Given the description of an element on the screen output the (x, y) to click on. 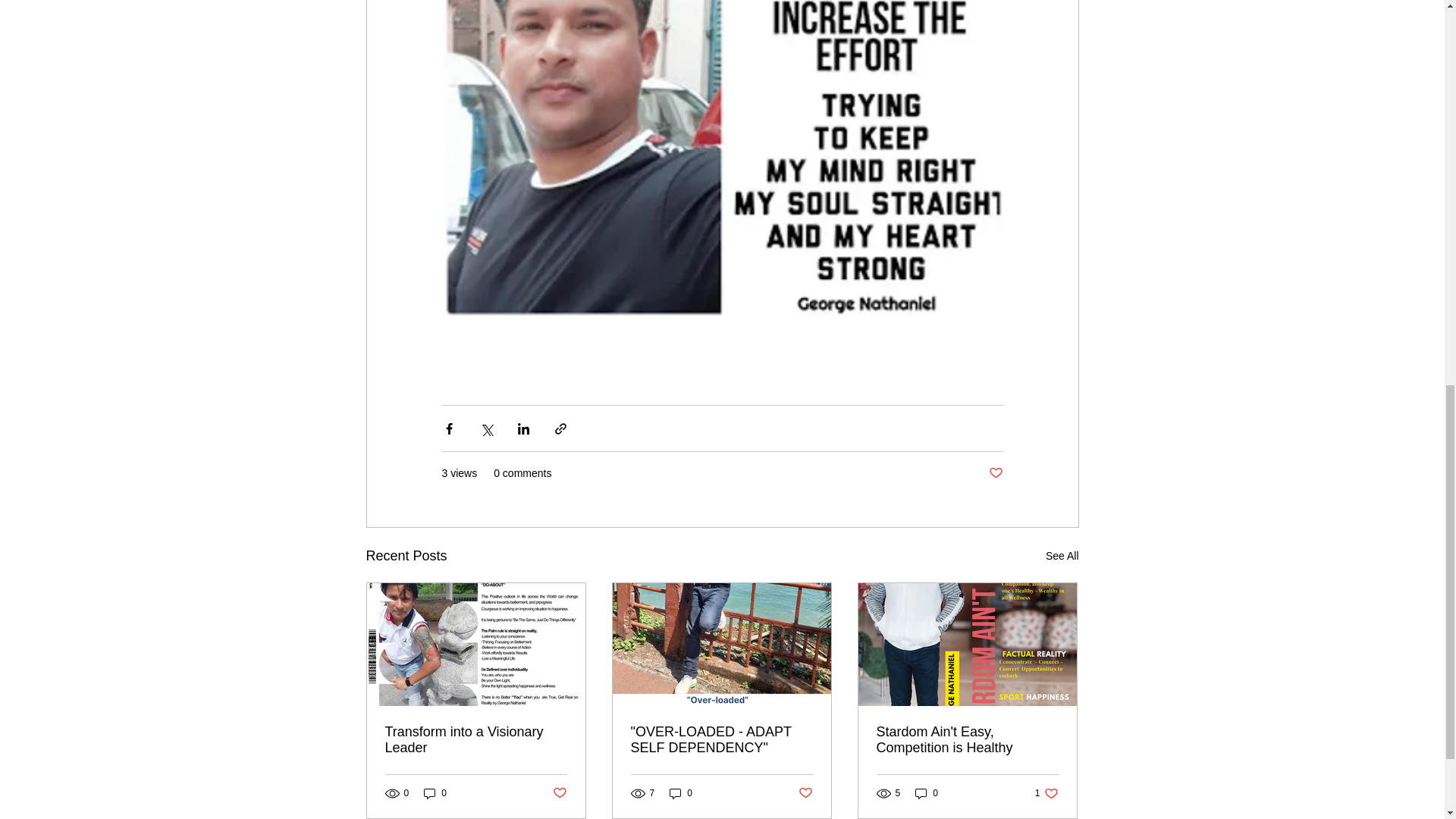
0 (681, 793)
Transform into a Visionary Leader (476, 739)
"OVER-LOADED - ADAPT SELF DEPENDENCY" (721, 739)
Post not marked as liked (558, 793)
Post not marked as liked (995, 473)
Post not marked as liked (804, 793)
See All (1046, 793)
0 (1061, 556)
0 (926, 793)
